Given the description of an element on the screen output the (x, y) to click on. 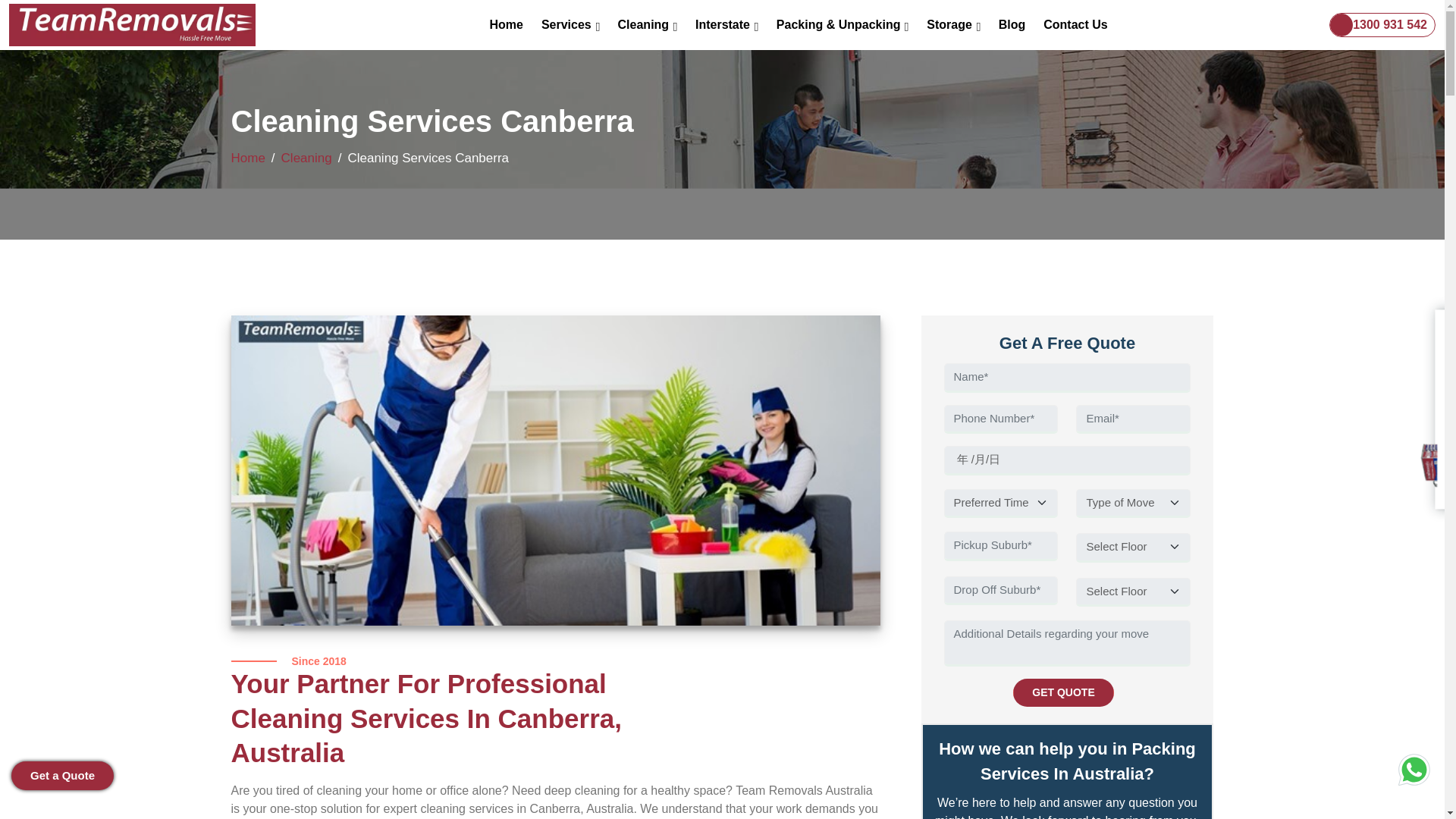
Team Removals Logo (132, 25)
Interstate (726, 24)
Cleaning (647, 24)
Our Removalists Services In Australia (570, 24)
Services (570, 24)
